Given the description of an element on the screen output the (x, y) to click on. 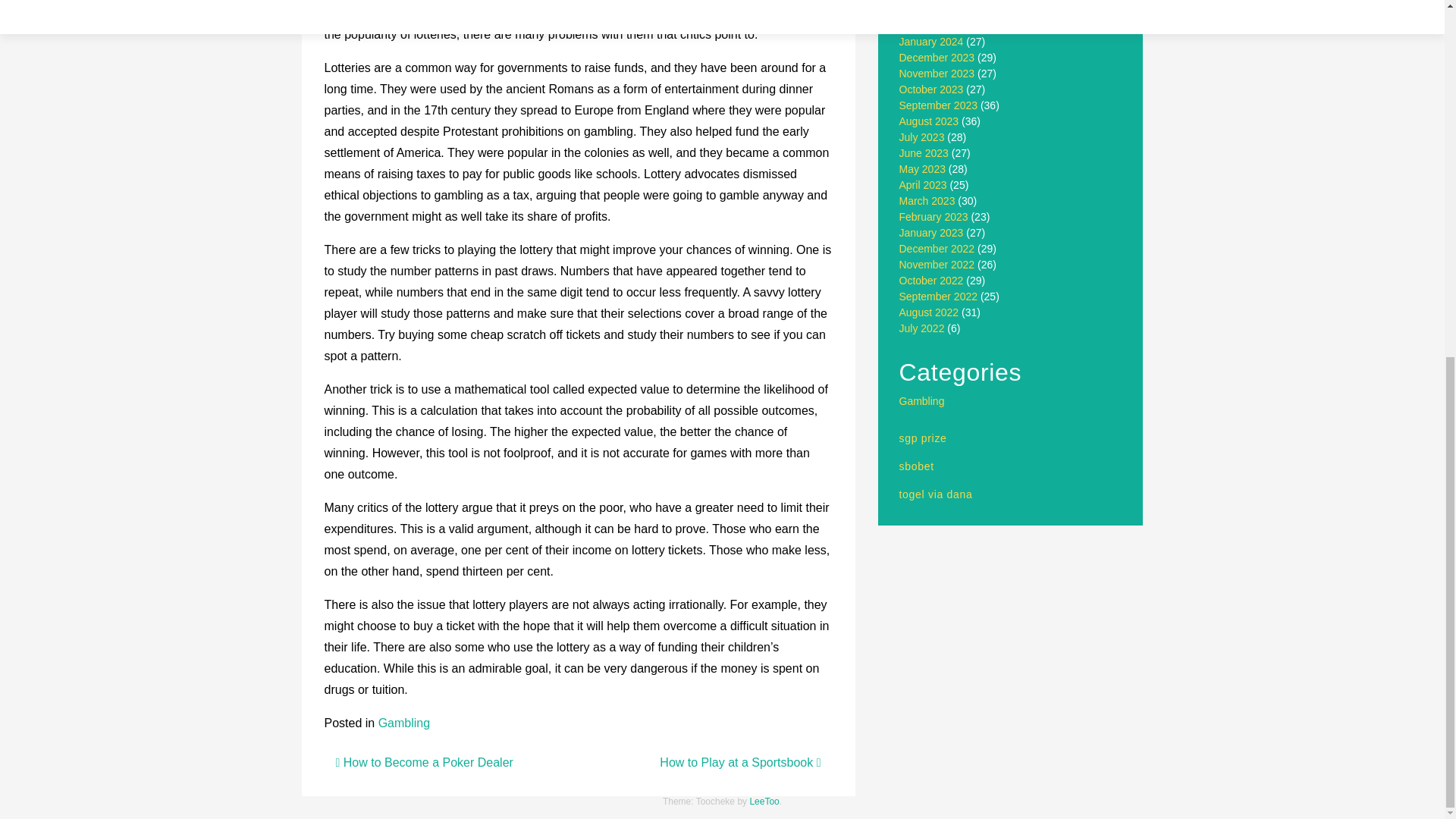
February 2024 (933, 25)
May 2023 (921, 168)
Gambling (921, 400)
October 2023 (931, 89)
March 2023 (927, 200)
October 2022 (931, 280)
sgp prize (923, 438)
November 2023 (937, 73)
January 2024 (931, 41)
June 2023 (924, 152)
How to Play at a Sportsbook  (740, 762)
April 2023 (923, 184)
July 2022 (921, 328)
Gambling (403, 722)
August 2023 (929, 121)
